Given the description of an element on the screen output the (x, y) to click on. 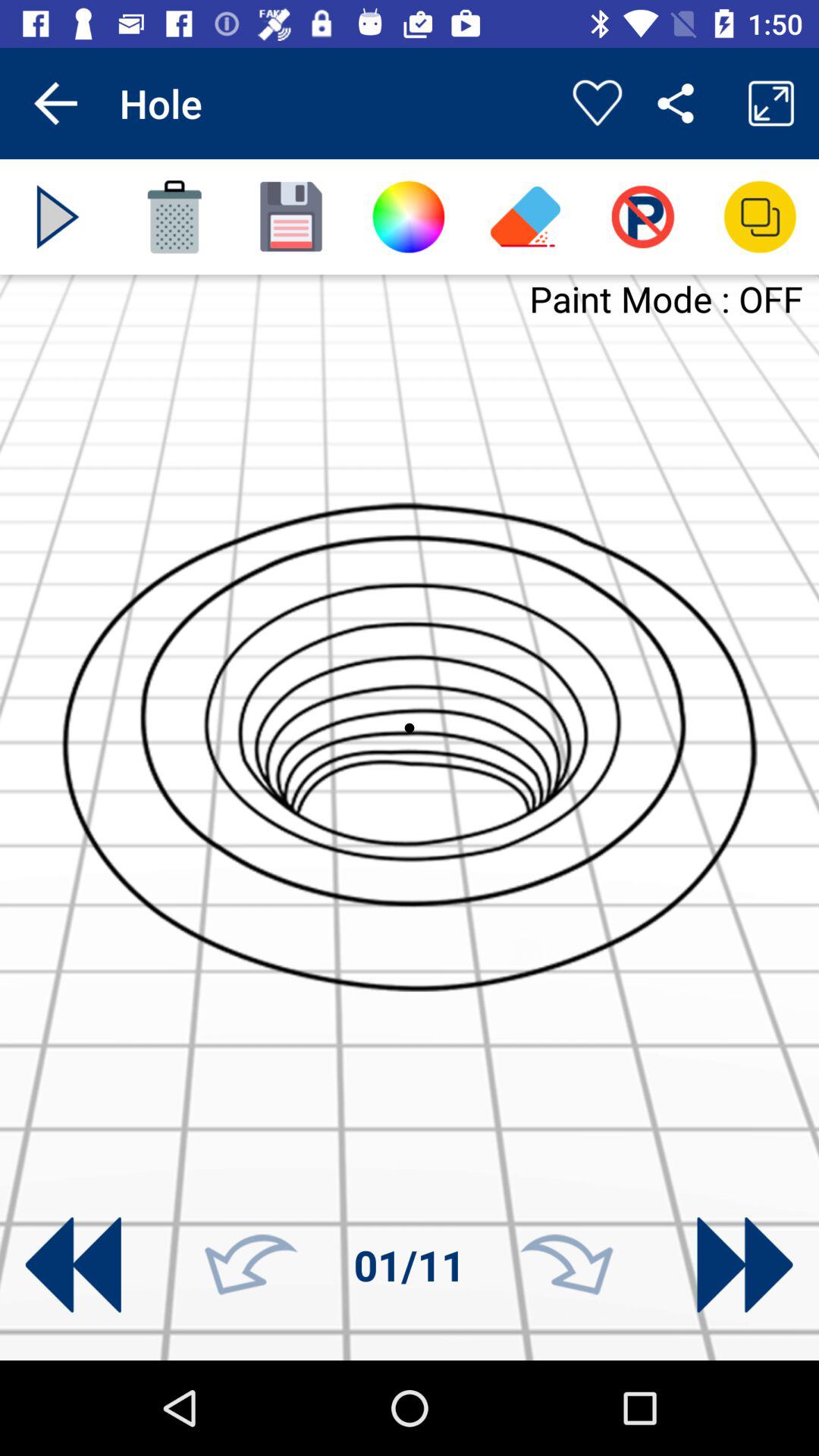
go to next arrow (744, 1264)
